Given the description of an element on the screen output the (x, y) to click on. 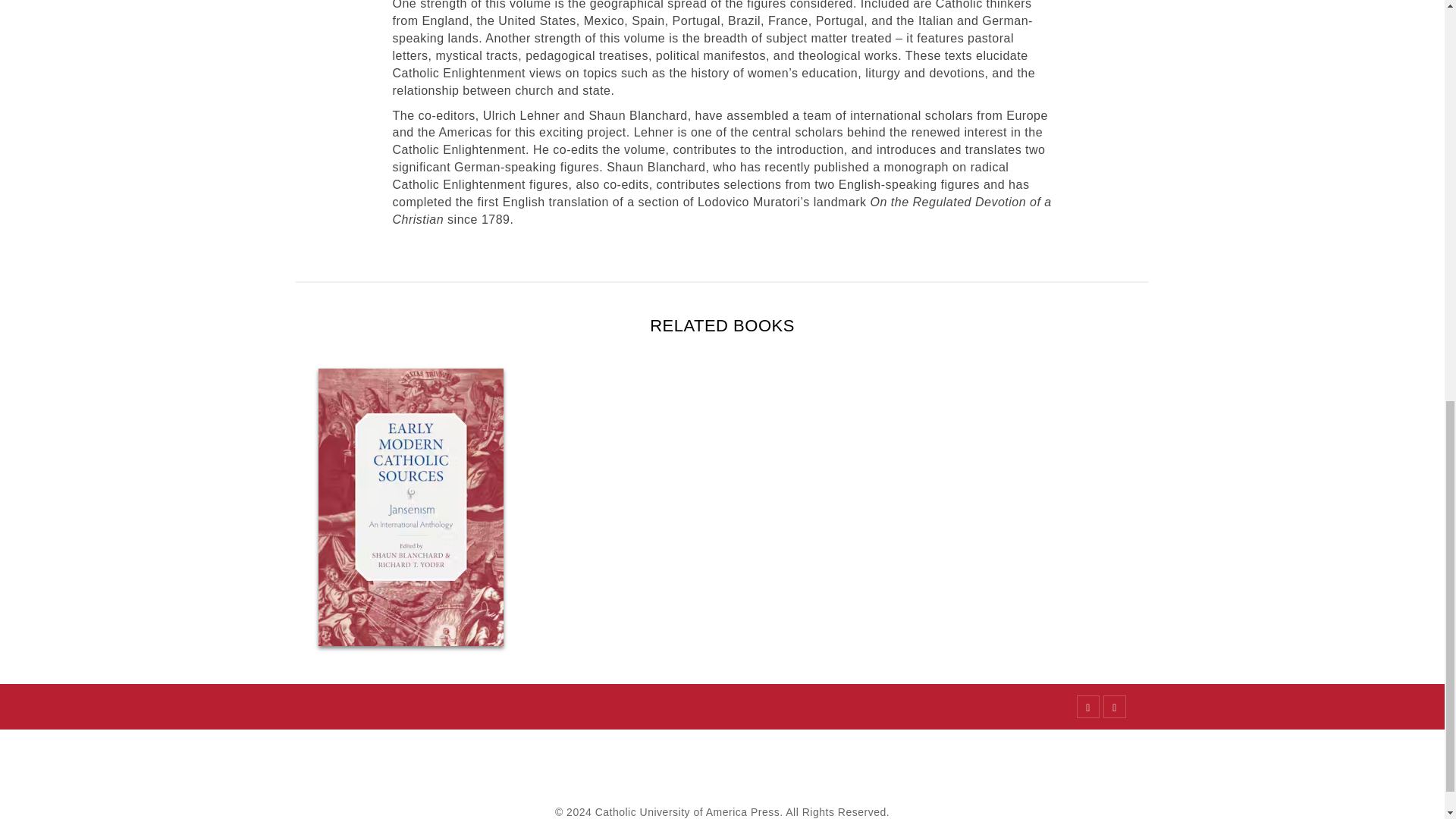
Follow us on Facebook (1088, 706)
